Given the description of an element on the screen output the (x, y) to click on. 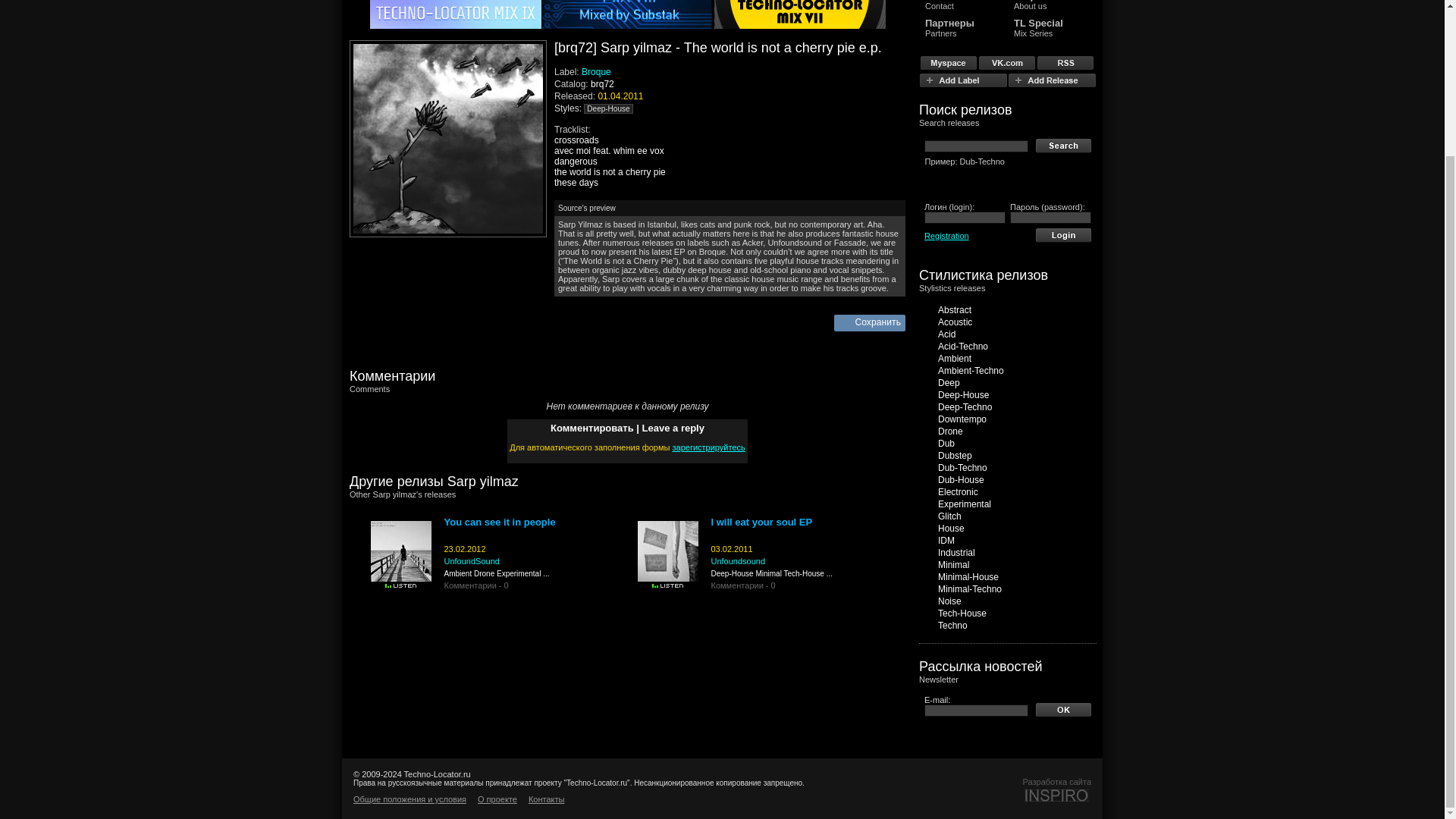
Registration (946, 234)
Broque (600, 71)
I will eat your soul EP (761, 521)
You can see it in people (500, 521)
